Given the description of an element on the screen output the (x, y) to click on. 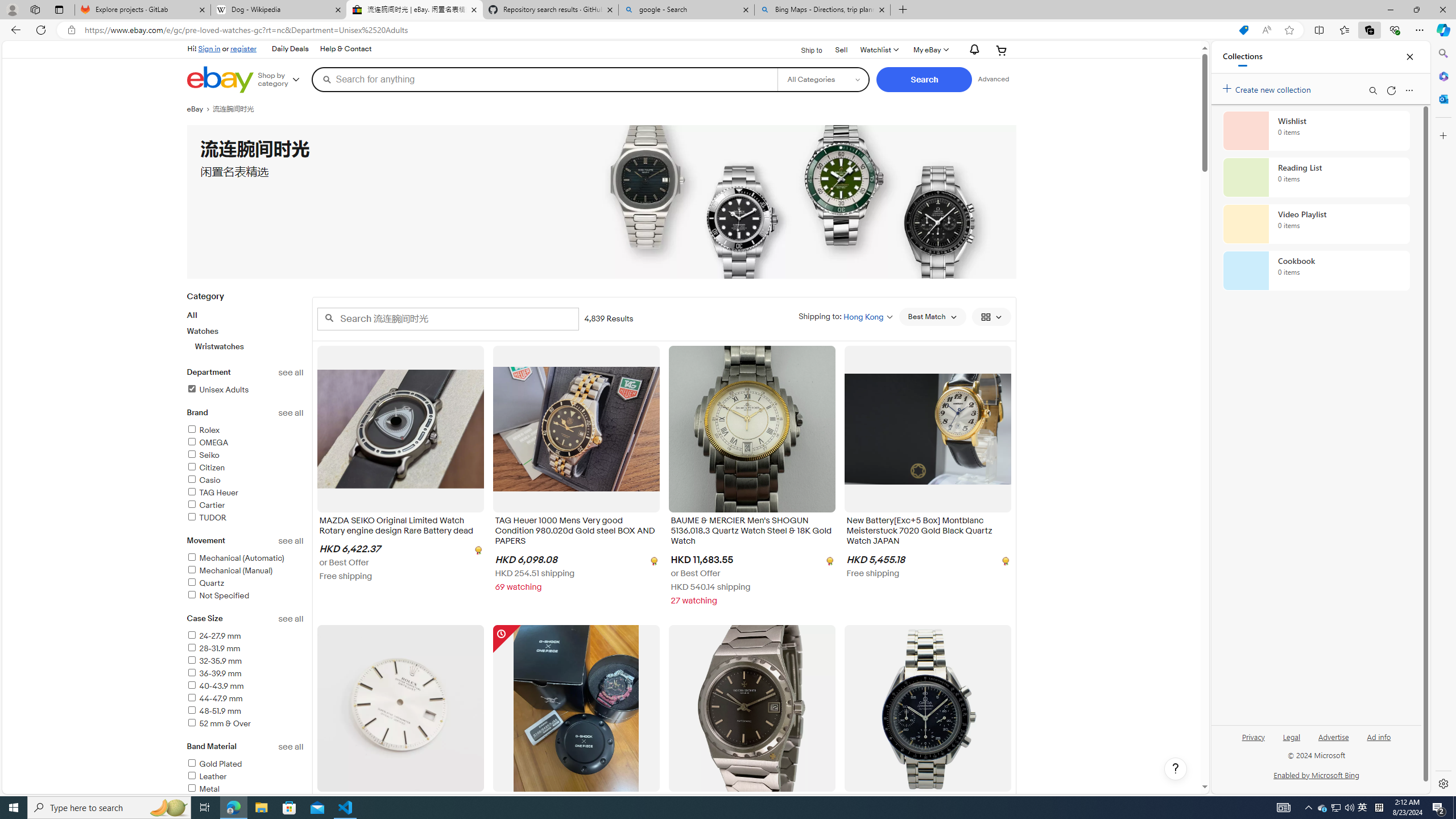
Cartier (205, 505)
Unisex Adults Filter Applied (217, 389)
Citizen (245, 467)
Select a category for search (823, 78)
Daily Deals (290, 49)
Departmentsee allUnisex AdultsFilter Applied (245, 387)
Metal (245, 789)
24-27.9 mm (245, 636)
